Given the description of an element on the screen output the (x, y) to click on. 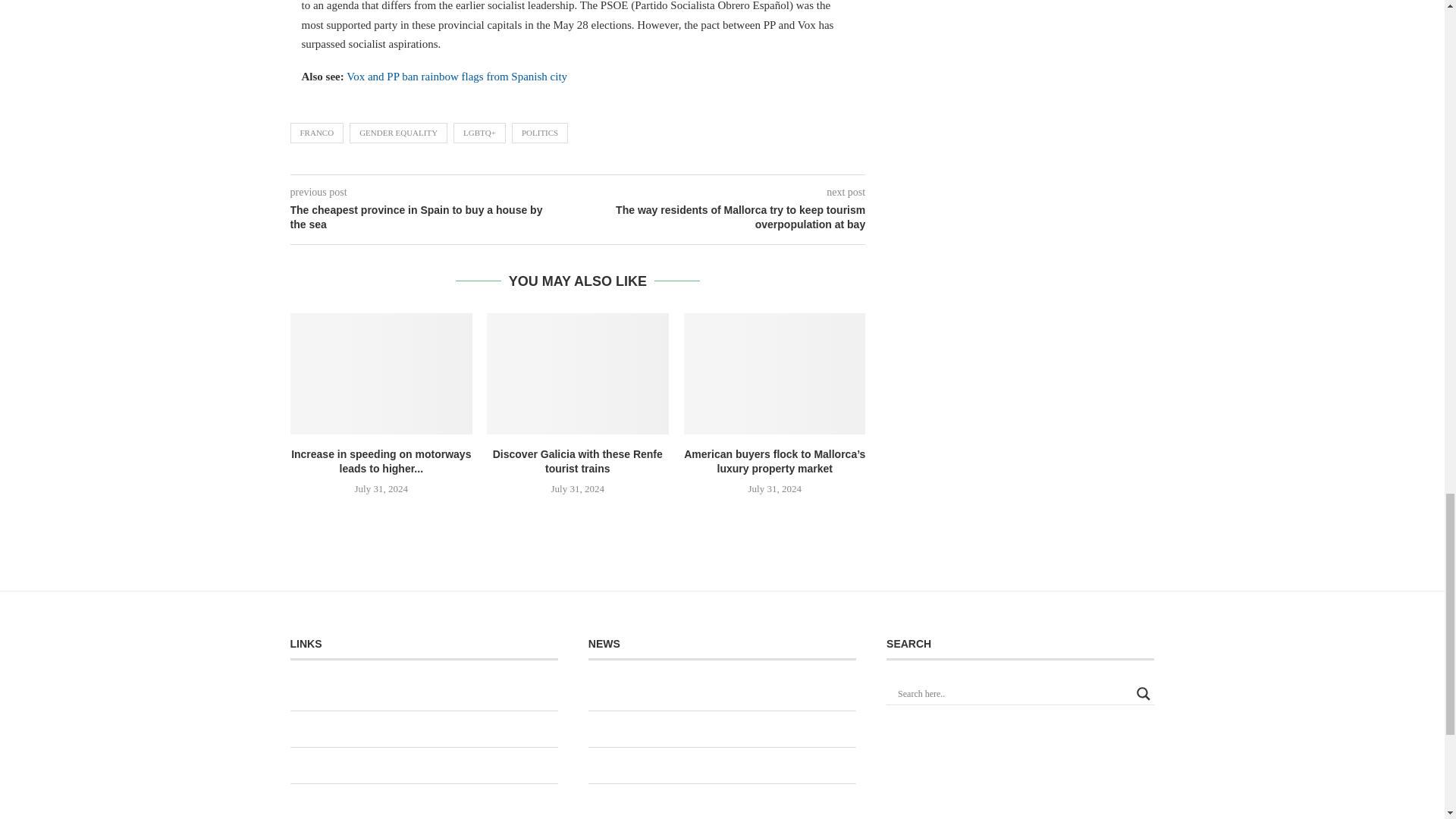
Discover Galicia with these Renfe tourist trains (577, 373)
FRANCO (316, 132)
Vox and PP ban rainbow flags from Spanish city (456, 76)
POLITICS (539, 132)
GENDER EQUALITY (397, 132)
